Given the description of an element on the screen output the (x, y) to click on. 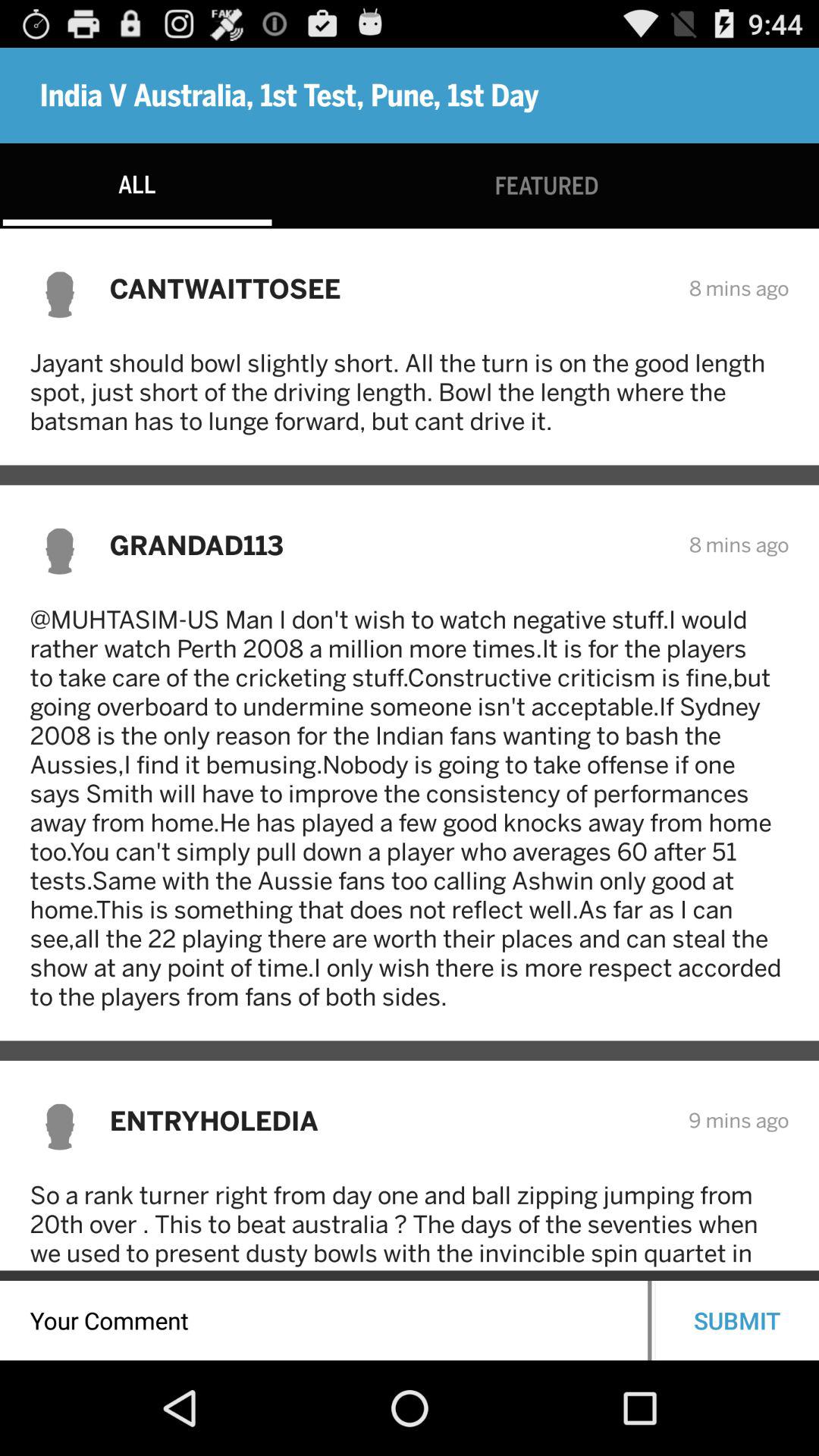
scroll to cantwaittosee (389, 288)
